Given the description of an element on the screen output the (x, y) to click on. 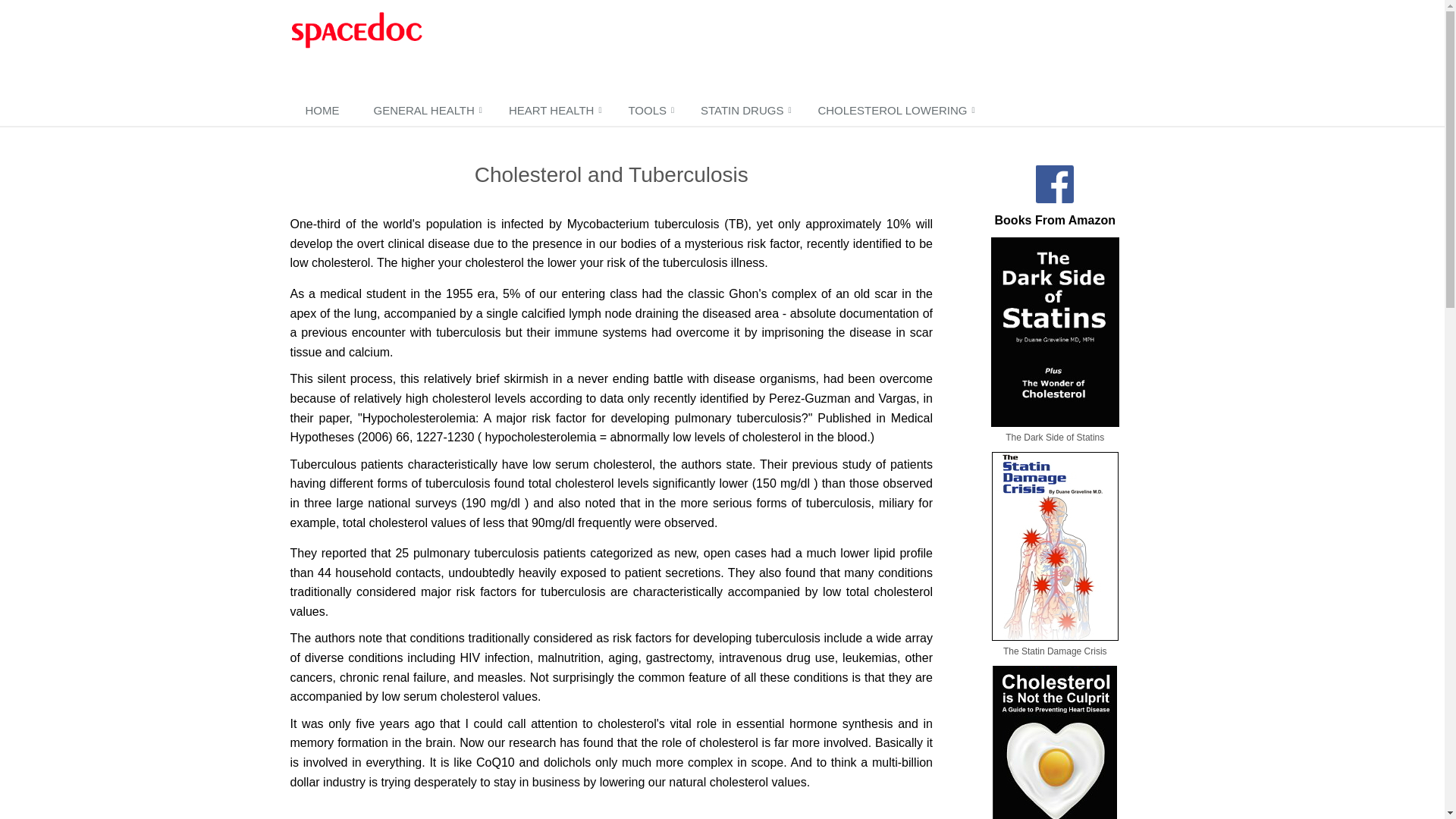
Advertisement (611, 811)
HOME (323, 111)
GENERAL HEALTH (425, 111)
Advertisement (739, 48)
